Given the description of an element on the screen output the (x, y) to click on. 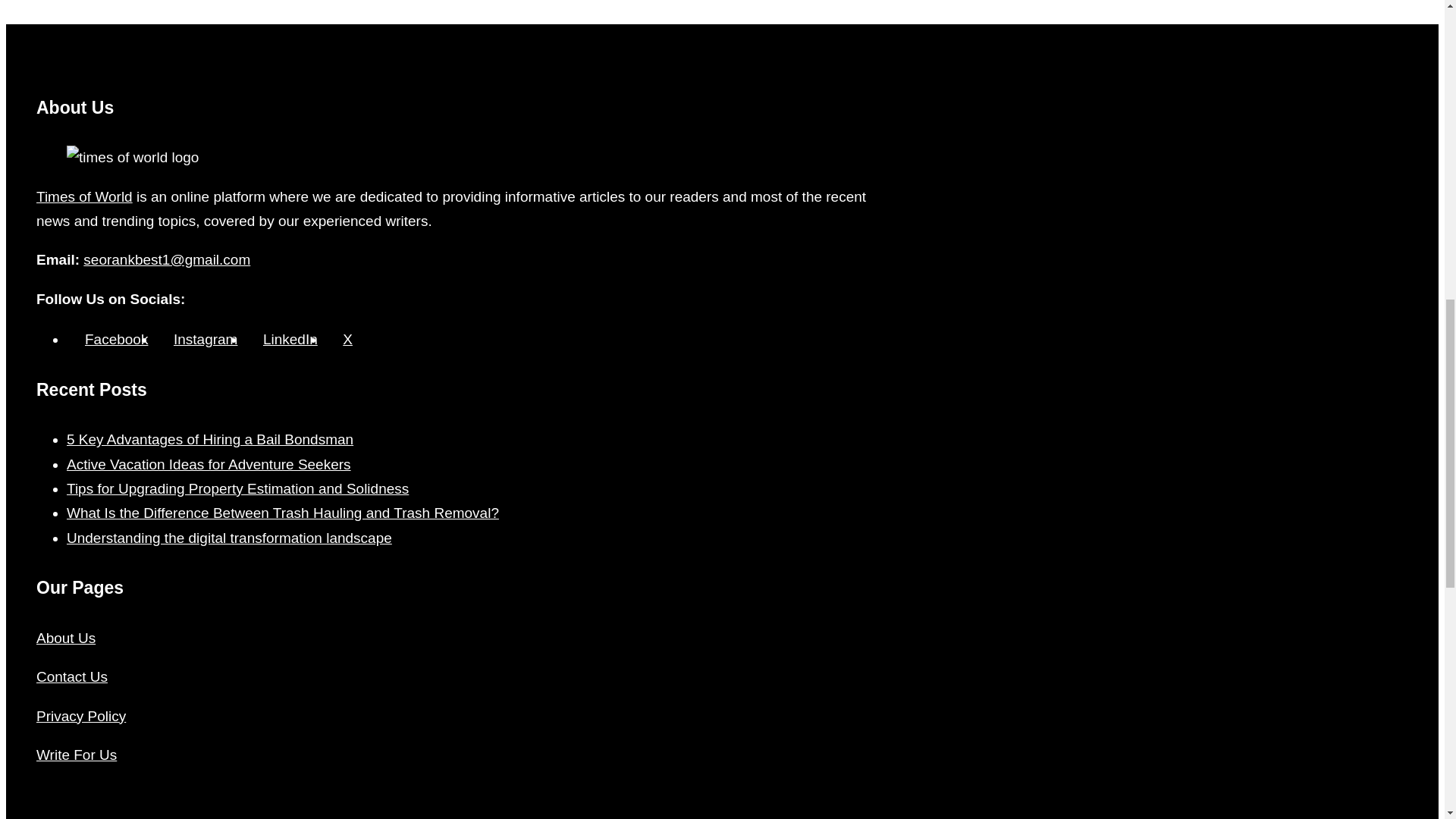
About Us (66, 637)
Understanding the digital transformation landscape (228, 537)
5 Key Advantages of Hiring a Bail Bondsman (209, 439)
Contact Us (71, 676)
Active Vacation Ideas for Adventure Seekers (208, 464)
Facebook (107, 339)
Times of World (84, 196)
Privacy Policy (80, 715)
Instagram (196, 339)
Scroll back to top (1406, 720)
X (338, 339)
Tips for Upgrading Property Estimation and Solidness (237, 488)
LinkedIn (280, 339)
